Given the description of an element on the screen output the (x, y) to click on. 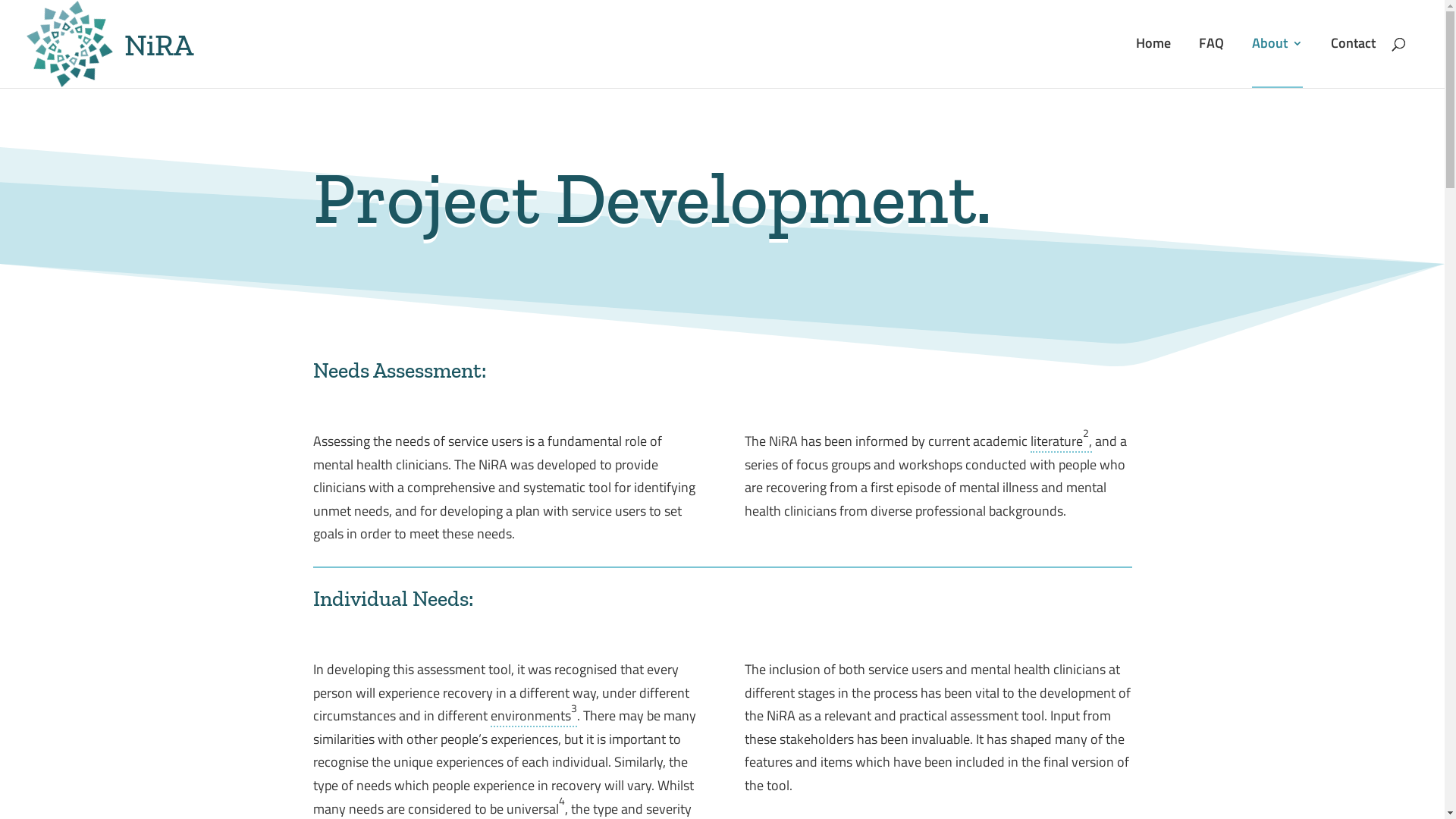
Home Element type: text (1152, 61)
About Element type: text (1277, 62)
FAQ Element type: text (1210, 61)
Contact Element type: text (1352, 61)
